Given the description of an element on the screen output the (x, y) to click on. 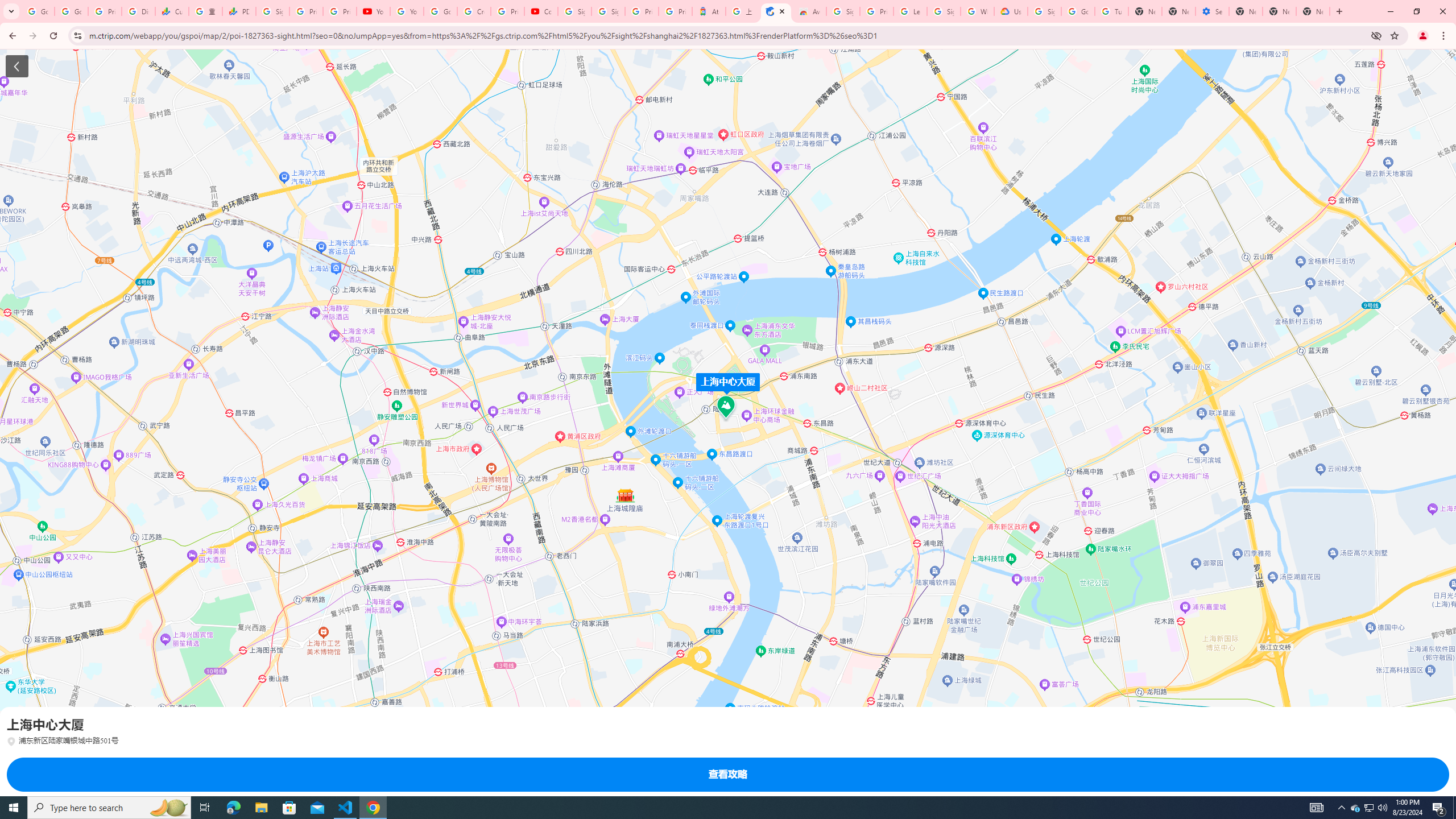
Sign in - Google Accounts (272, 11)
Google Account Help (441, 11)
YouTube (372, 11)
Awesome Screen Recorder & Screenshot - Chrome Web Store (809, 11)
Settings - Addresses and more (1212, 11)
Google Workspace Admin Community (37, 11)
